Given the description of an element on the screen output the (x, y) to click on. 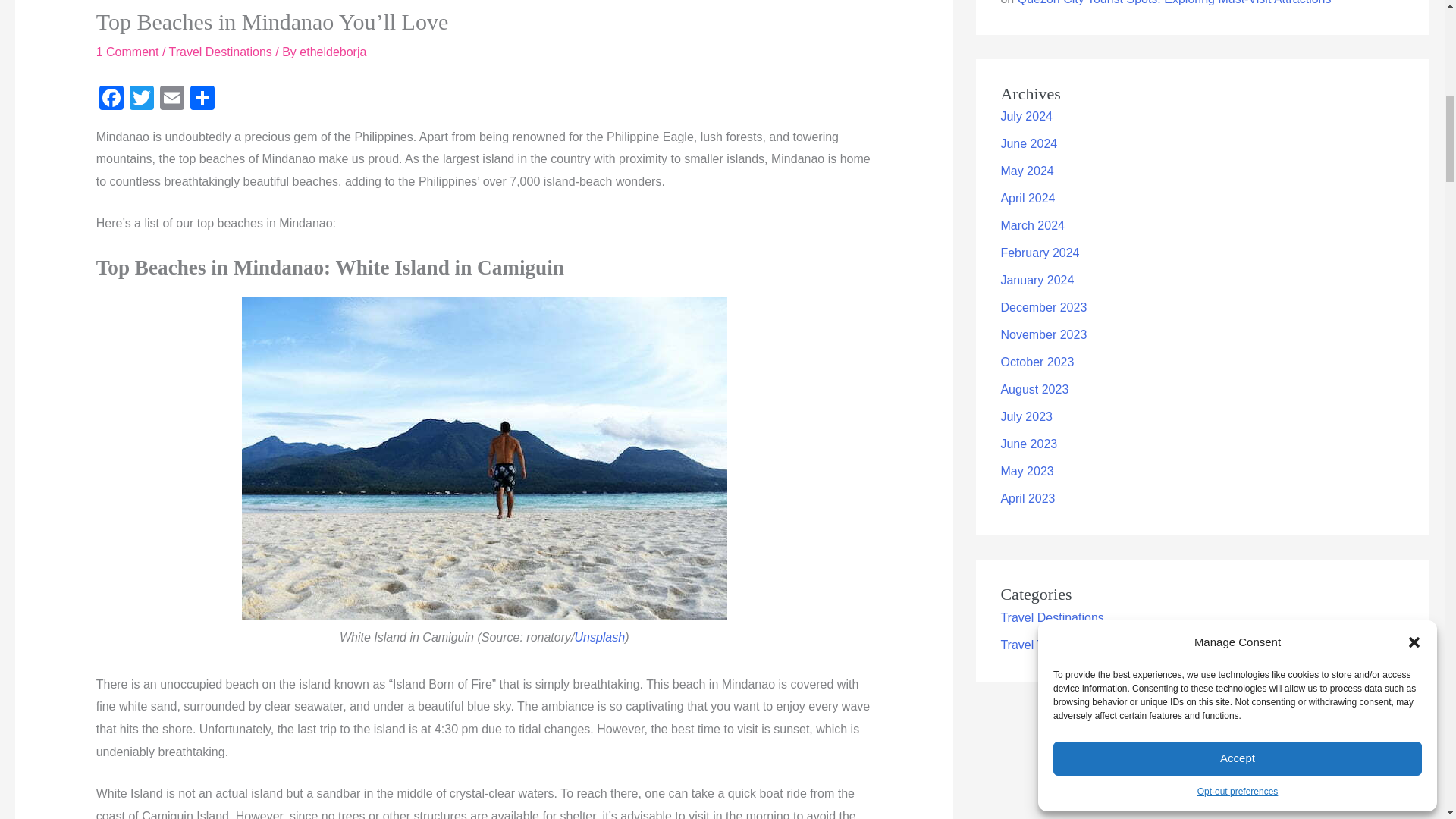
Twitter (141, 99)
View all posts by etheldeborja (332, 51)
etheldeborja (332, 51)
Email (172, 99)
Travel Destinations (219, 51)
1 Comment (127, 51)
Unsplash (598, 636)
Facebook (111, 99)
Facebook (111, 99)
Email (172, 99)
